Given the description of an element on the screen output the (x, y) to click on. 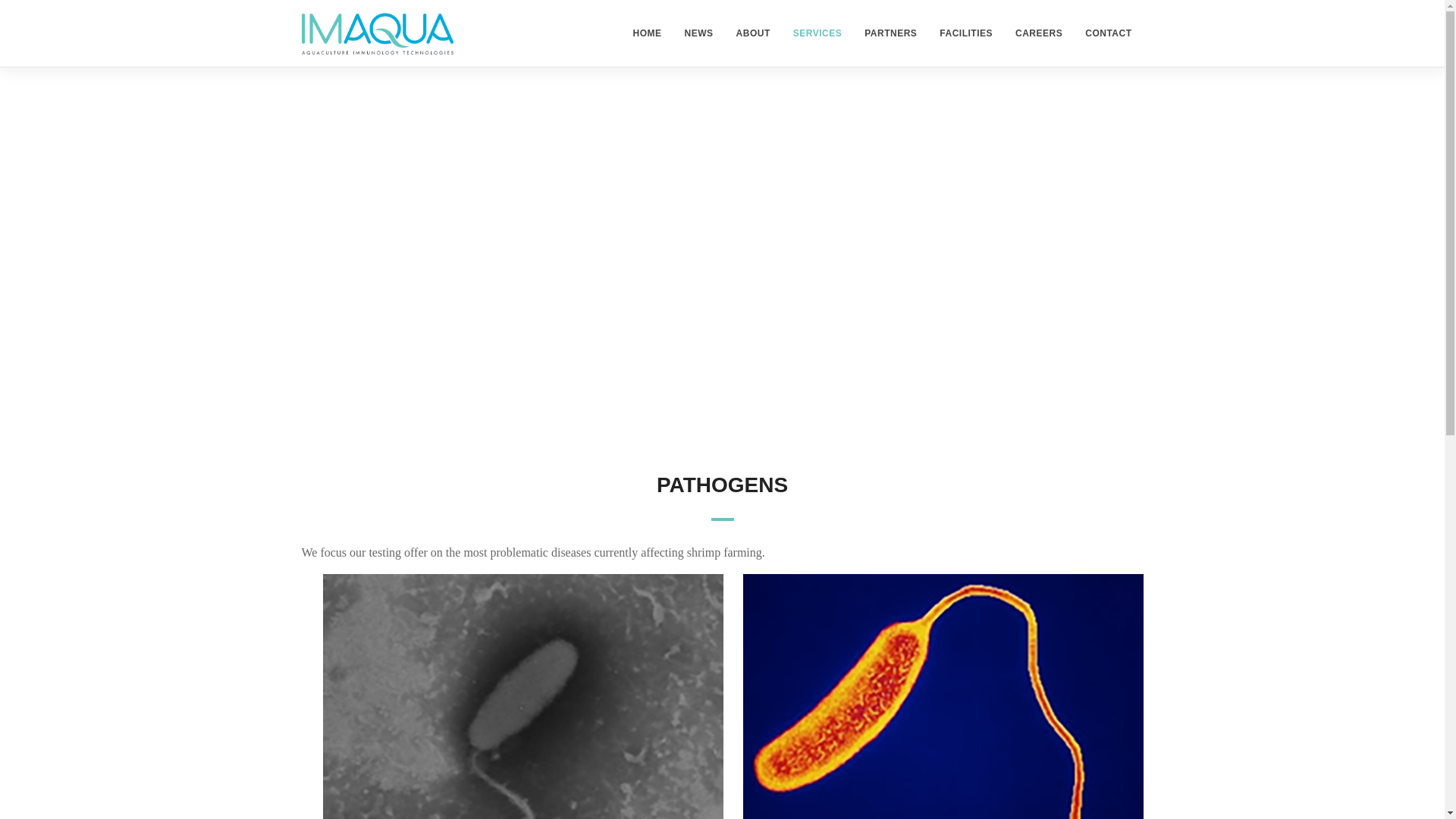
ABOUT (753, 32)
SERVICES (817, 32)
FACILITIES (966, 32)
NEWS (698, 32)
CONTACT (1108, 32)
Home (646, 32)
PARTNERS (890, 32)
Careers (1039, 32)
About (753, 32)
Partners (890, 32)
